Given the description of an element on the screen output the (x, y) to click on. 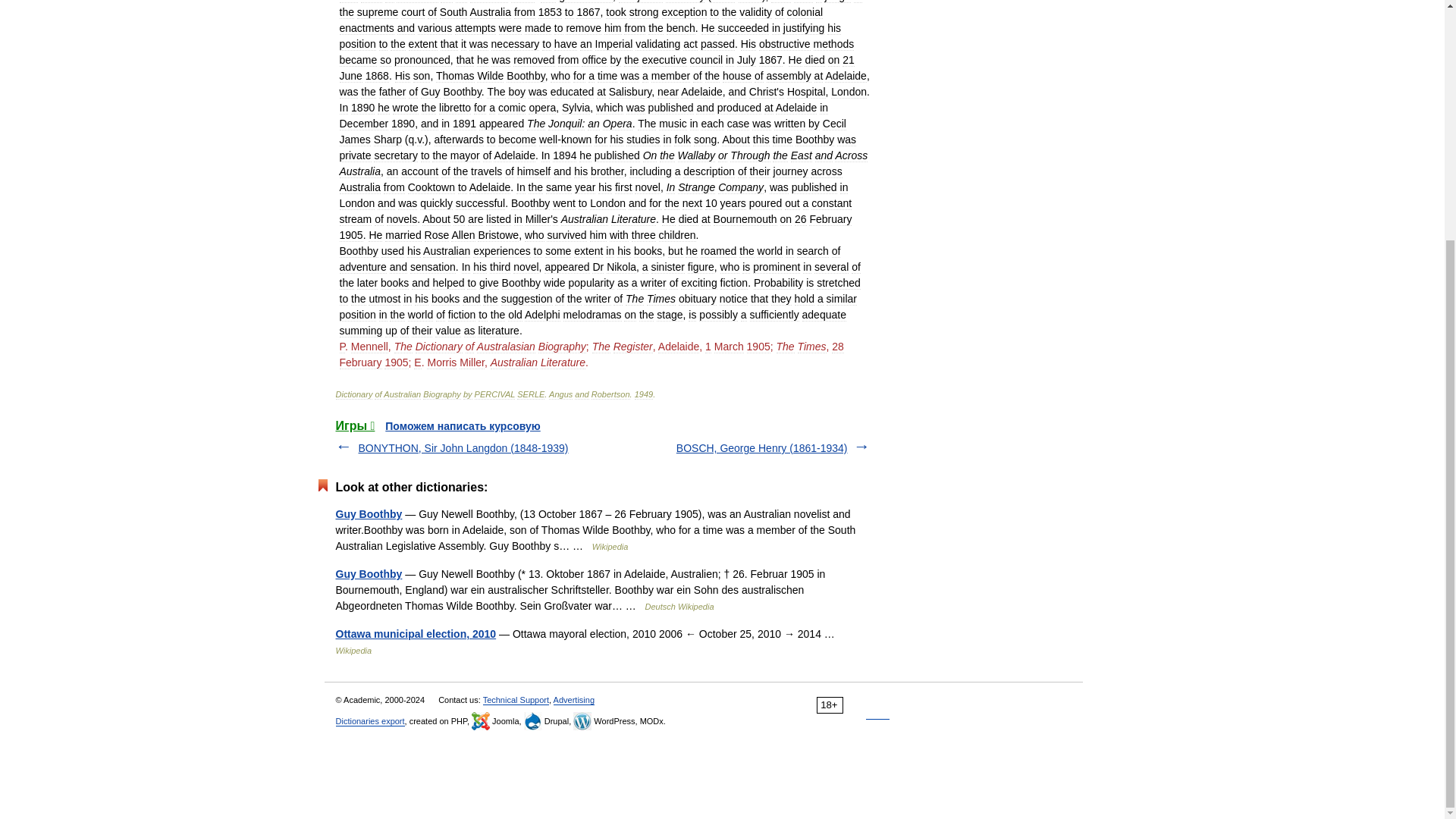
Guy Boothby (367, 513)
Dictionaries export (369, 721)
Advertising (573, 700)
Ottawa municipal election, 2010 (415, 633)
LiveInternet (877, 705)
Guy Boothby (367, 573)
Technical Support (515, 700)
